Given the description of an element on the screen output the (x, y) to click on. 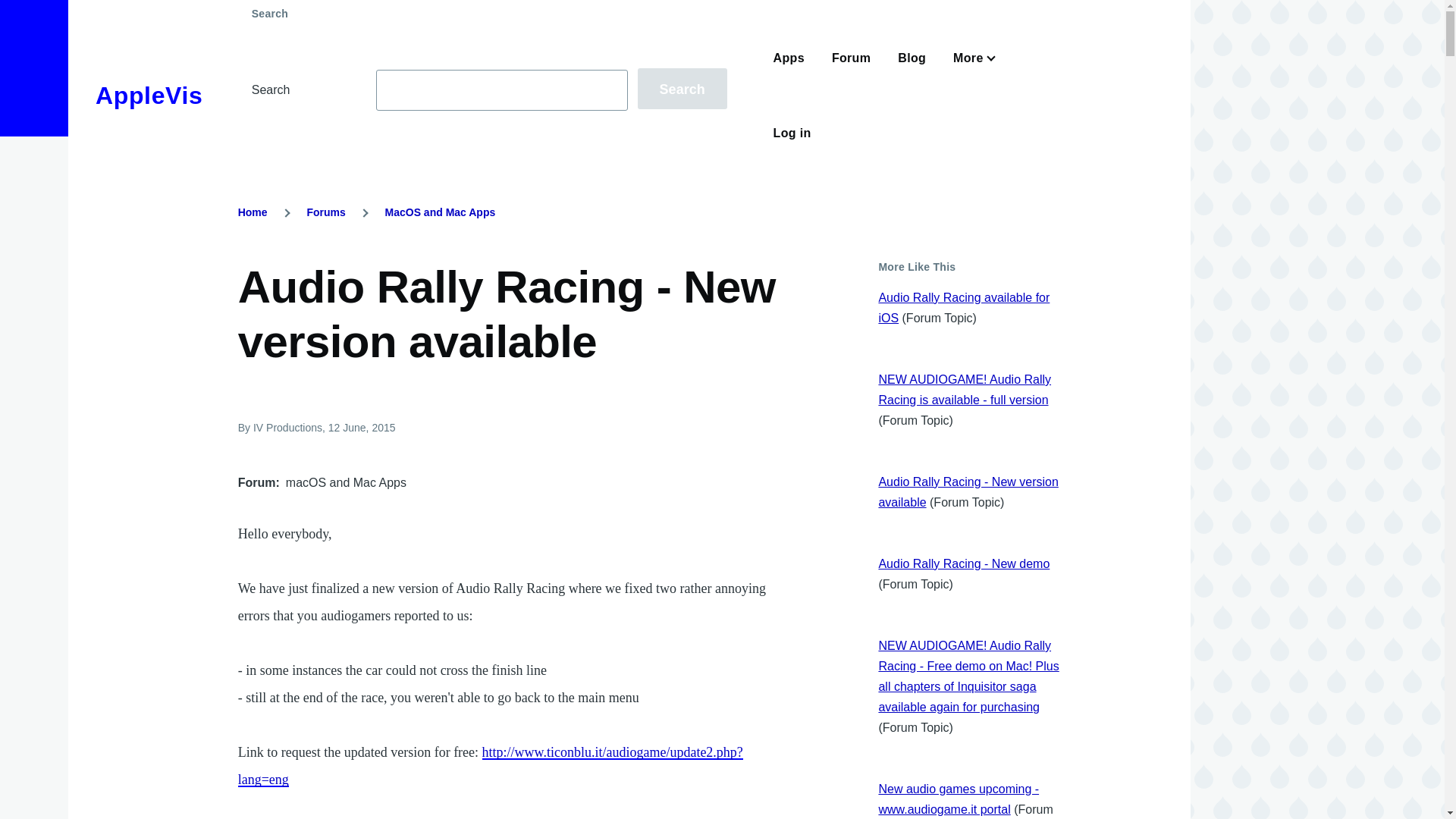
Search (681, 87)
Log in (791, 132)
MacOS and Mac Apps (440, 212)
Browse and search our App Directories (789, 57)
Home (252, 212)
Home (149, 94)
More (971, 57)
Forums (325, 212)
Apps (789, 57)
Skip to main content (595, 6)
AppleVis (149, 94)
Forum (850, 57)
Blog (912, 57)
Search (681, 87)
More community resources (971, 57)
